Given the description of an element on the screen output the (x, y) to click on. 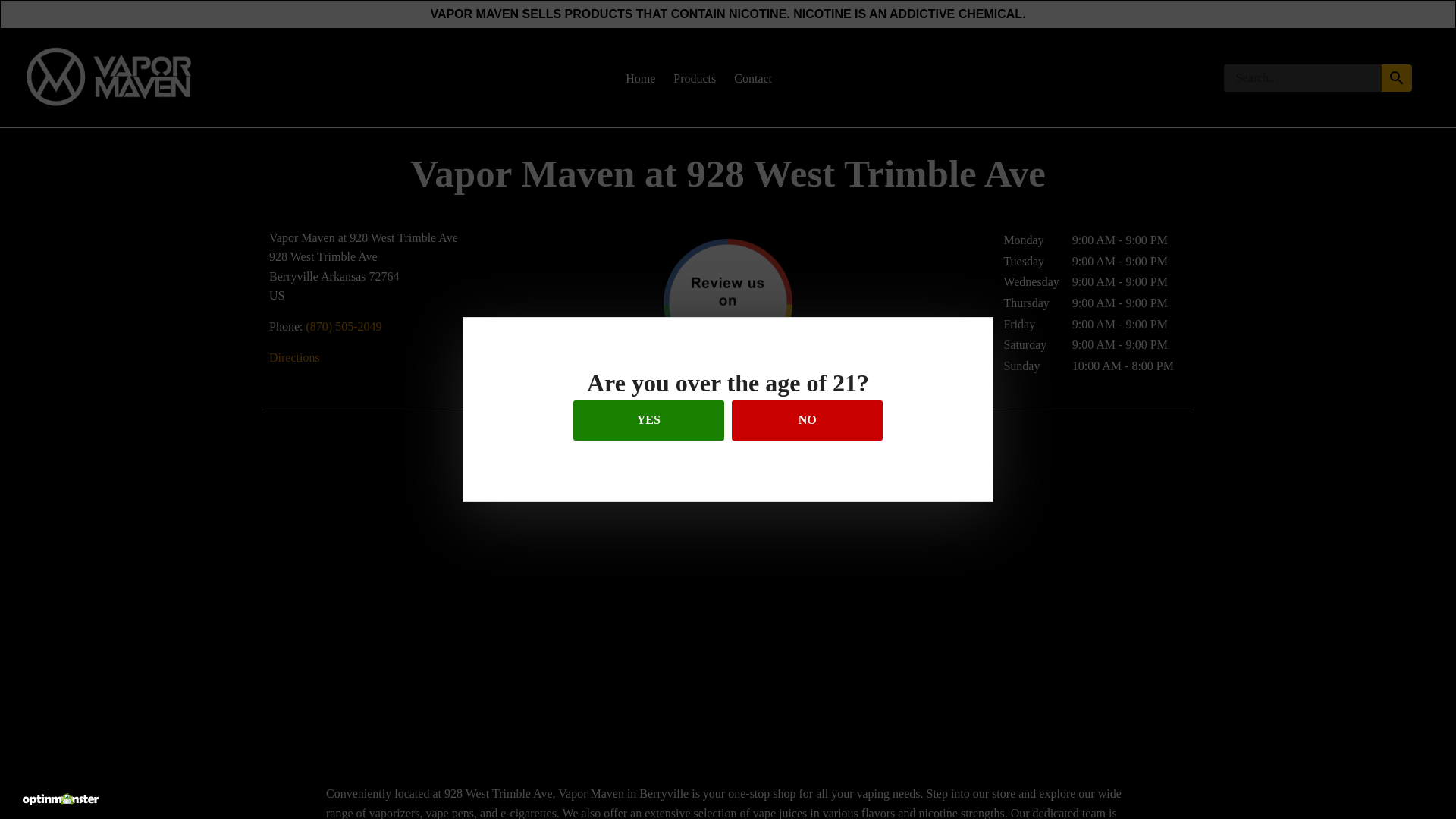
Products (694, 78)
NO (807, 420)
Contact (752, 78)
Home (640, 78)
Directions (294, 356)
YES (648, 420)
Powered by OptinMonster (61, 799)
Yes (648, 420)
No (807, 420)
